Given the description of an element on the screen output the (x, y) to click on. 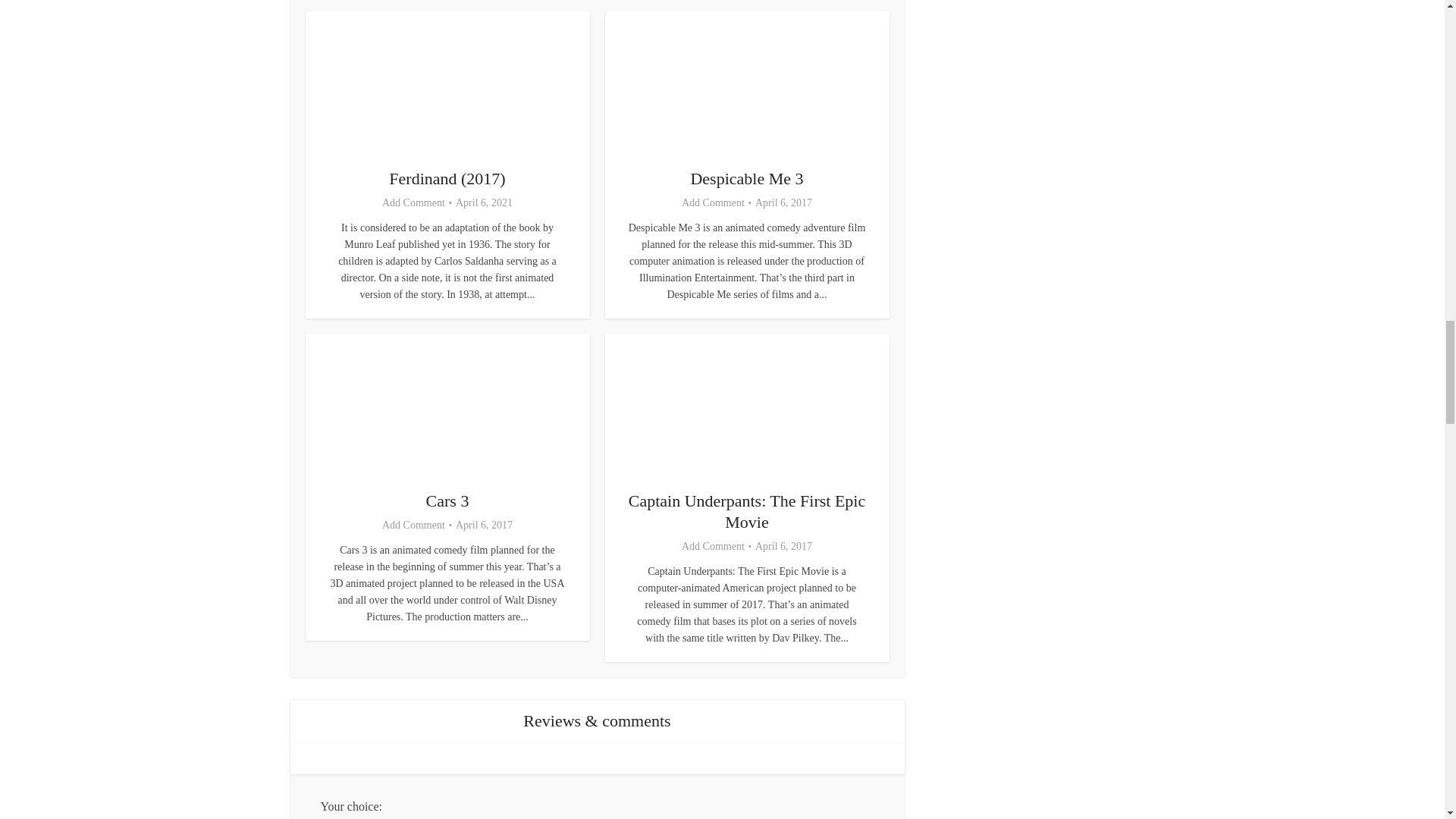
Cars 3 (447, 500)
Add Comment (413, 525)
Add Comment (712, 202)
Despicable Me 3 (746, 178)
Captain Underpants: The First Epic Movie (746, 511)
Captain Underpants: The First Epic Movie (746, 511)
Add Comment (413, 202)
Cars 3 (447, 500)
Despicable Me 3 (746, 178)
Add Comment (712, 546)
